Given the description of an element on the screen output the (x, y) to click on. 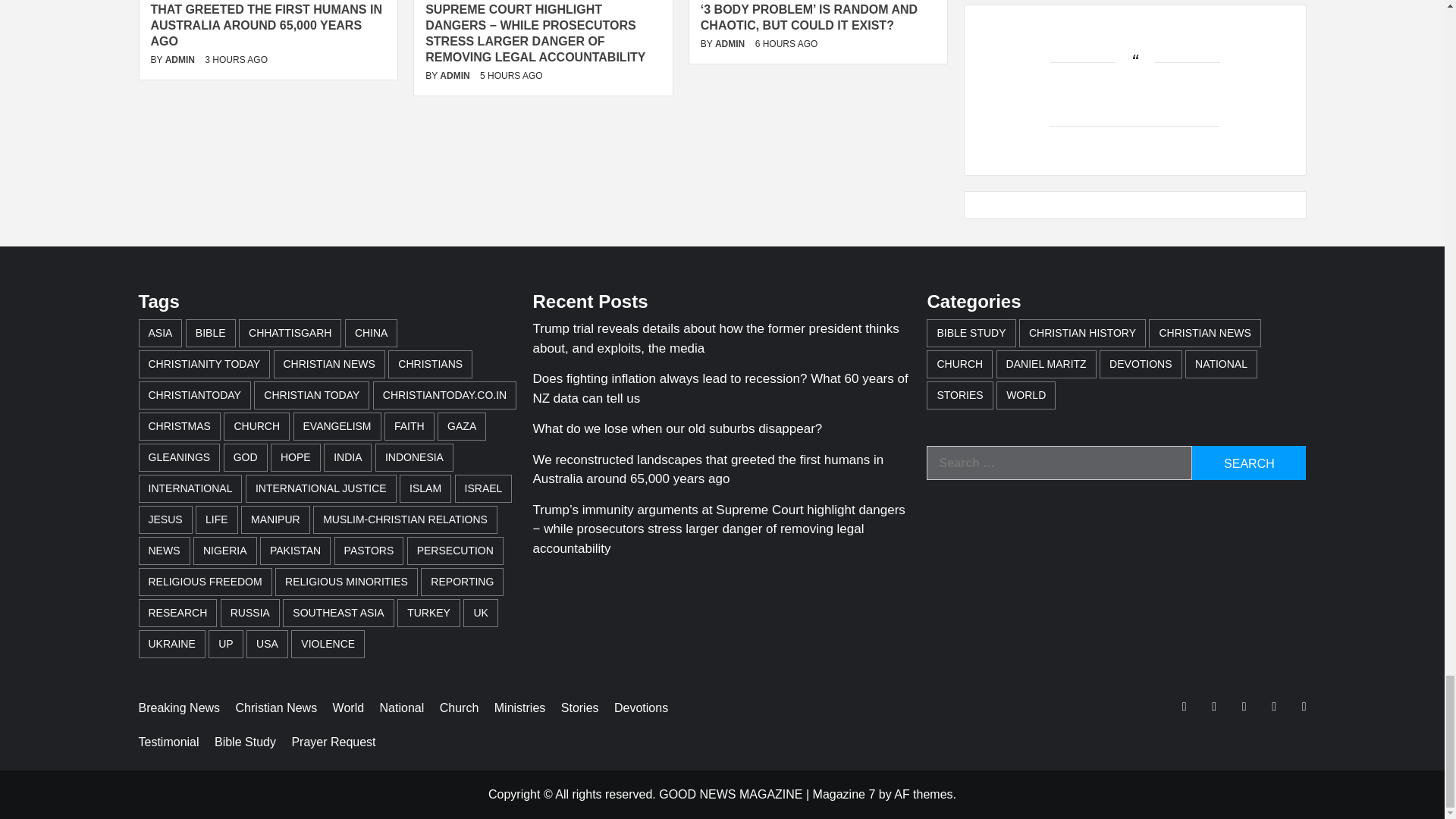
Search (1249, 462)
Search (1249, 462)
